Given the description of an element on the screen output the (x, y) to click on. 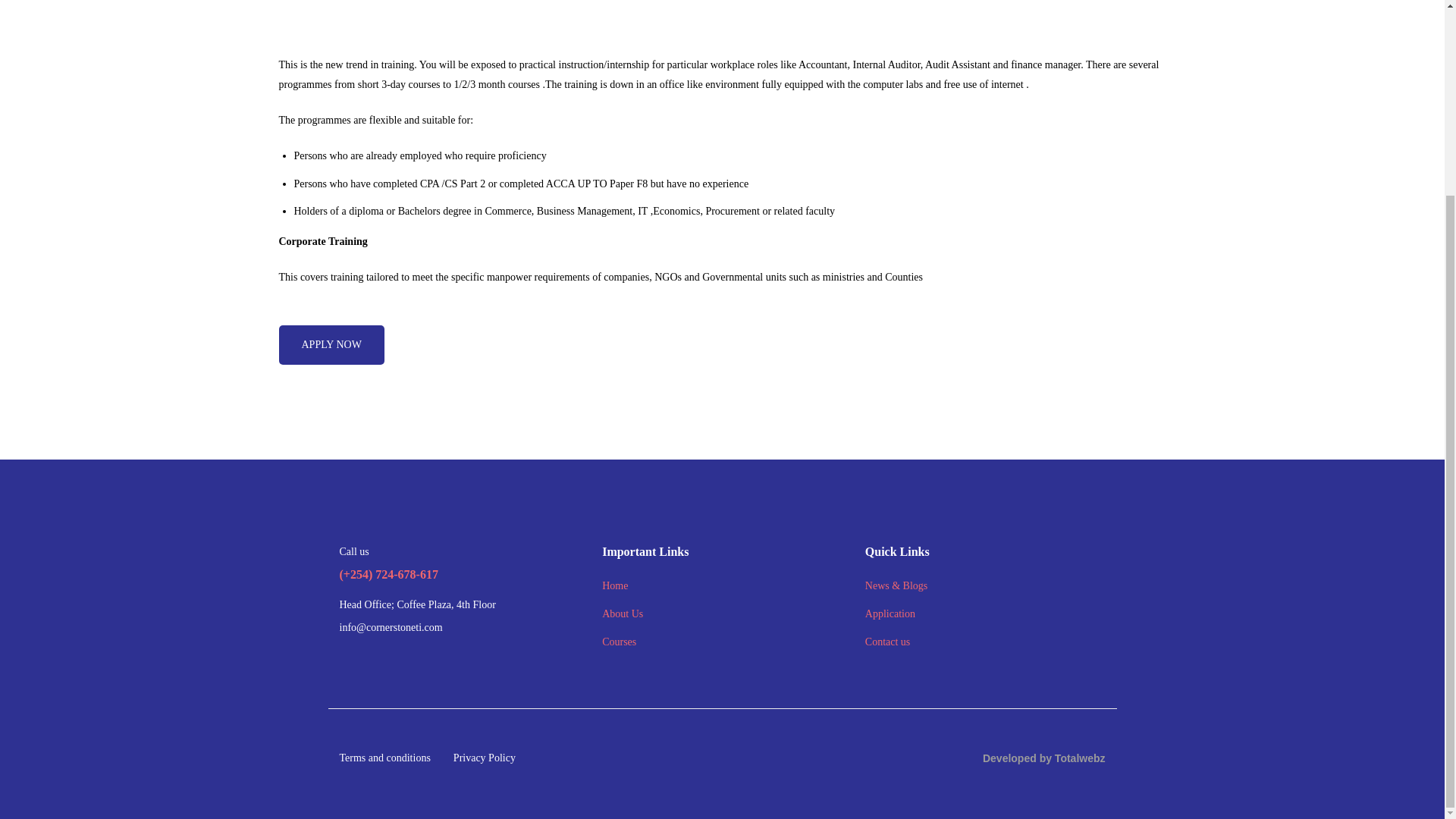
About Us (622, 614)
Home (614, 586)
Contact us (887, 641)
Application (889, 614)
Developed by Totalwebz (1043, 758)
Privacy Policy (483, 758)
Terms and conditions (384, 758)
APPLY NOW (331, 344)
Courses (619, 641)
